Given the description of an element on the screen output the (x, y) to click on. 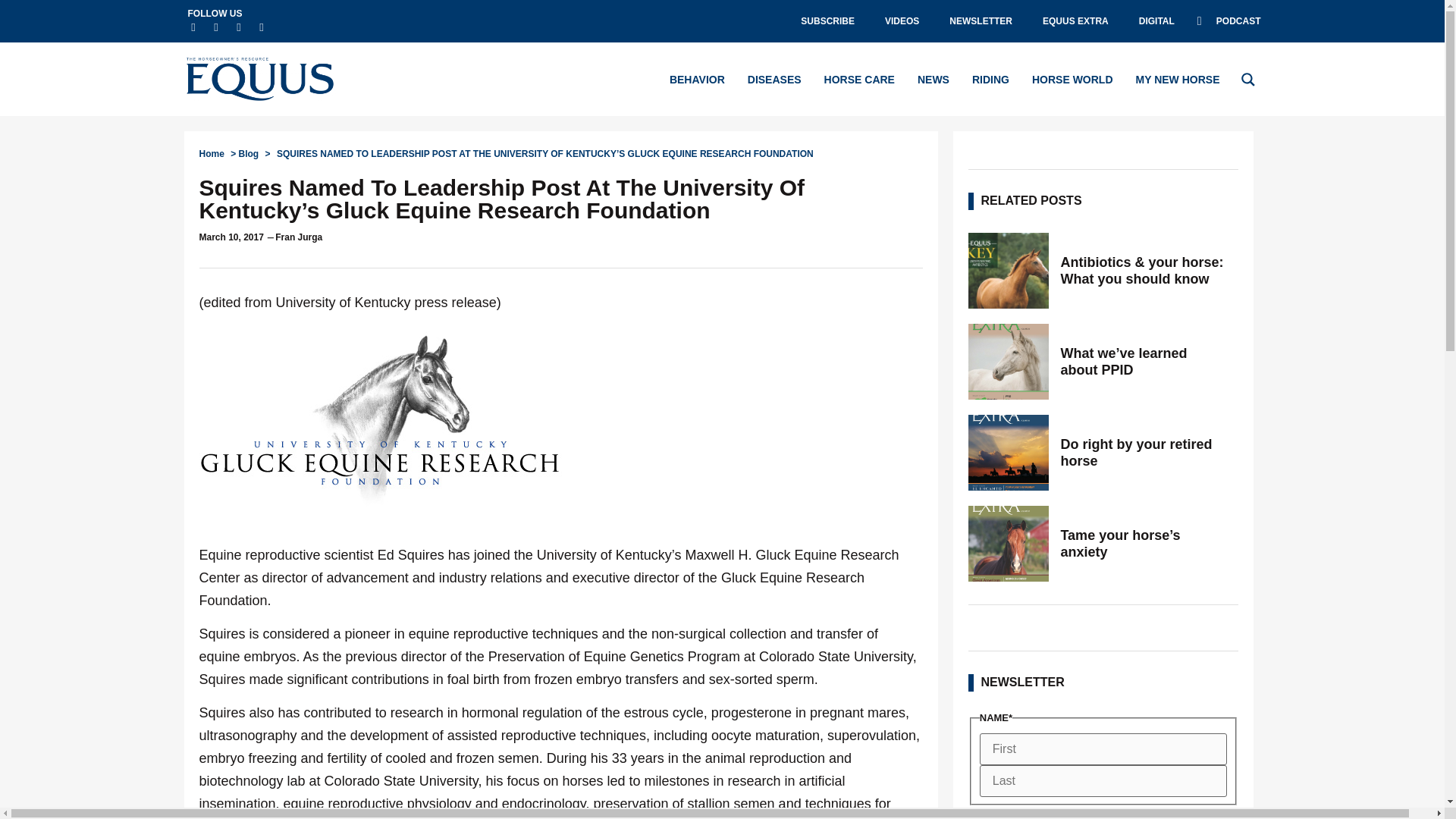
DIGITAL (1156, 21)
NEWSLETTER (980, 21)
HORSE CARE (859, 79)
Do right by your retired horse (1008, 452)
NEWS (933, 79)
EQUUS EXTRA (1075, 21)
DISEASES (775, 79)
Do right by your retired horse (1143, 452)
BEHAVIOR (697, 79)
VIDEOS (901, 21)
